Given the description of an element on the screen output the (x, y) to click on. 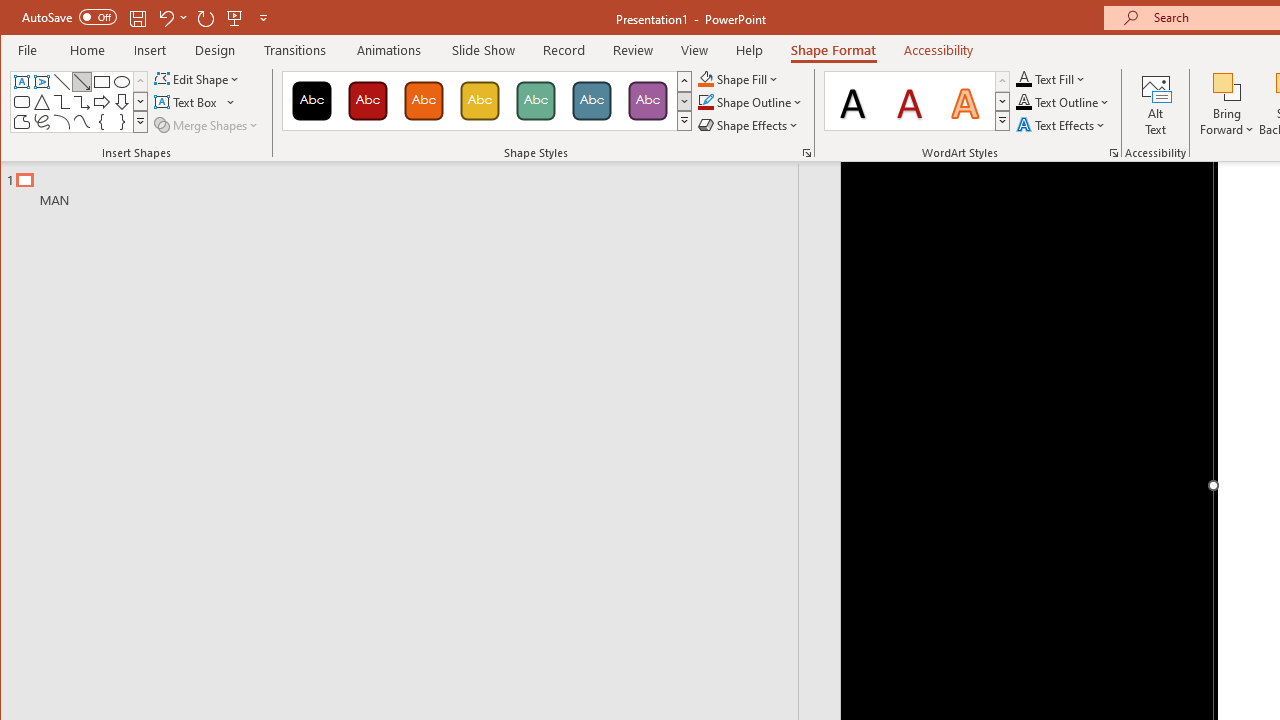
Right Brace (121, 121)
Colored Fill - Black, Dark 1 (312, 100)
Oval (121, 82)
Arc (61, 121)
Left Brace (102, 121)
Shape Outline Blue, Accent 1 (705, 101)
Vertical Text Box (42, 82)
Connector: Elbow (61, 102)
Line (61, 82)
